Given the description of an element on the screen output the (x, y) to click on. 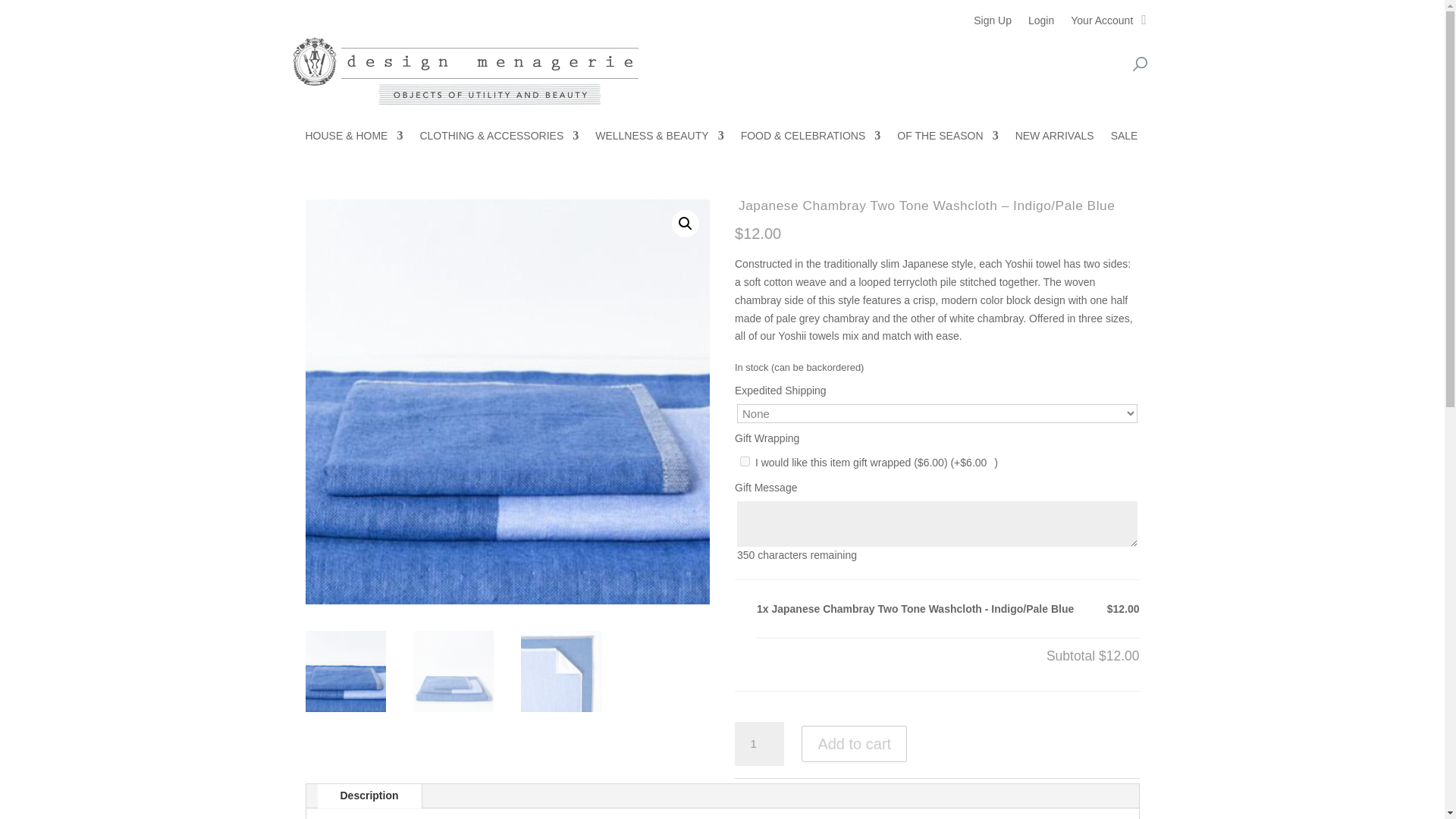
Login (1040, 23)
1 (759, 743)
Your Account (1101, 23)
i-would-like-this-item-gift-wrapped-6-00 (744, 461)
ios-search (1139, 64)
logo (466, 69)
OF THE SEASON (946, 138)
Sign Up (992, 23)
